Given the description of an element on the screen output the (x, y) to click on. 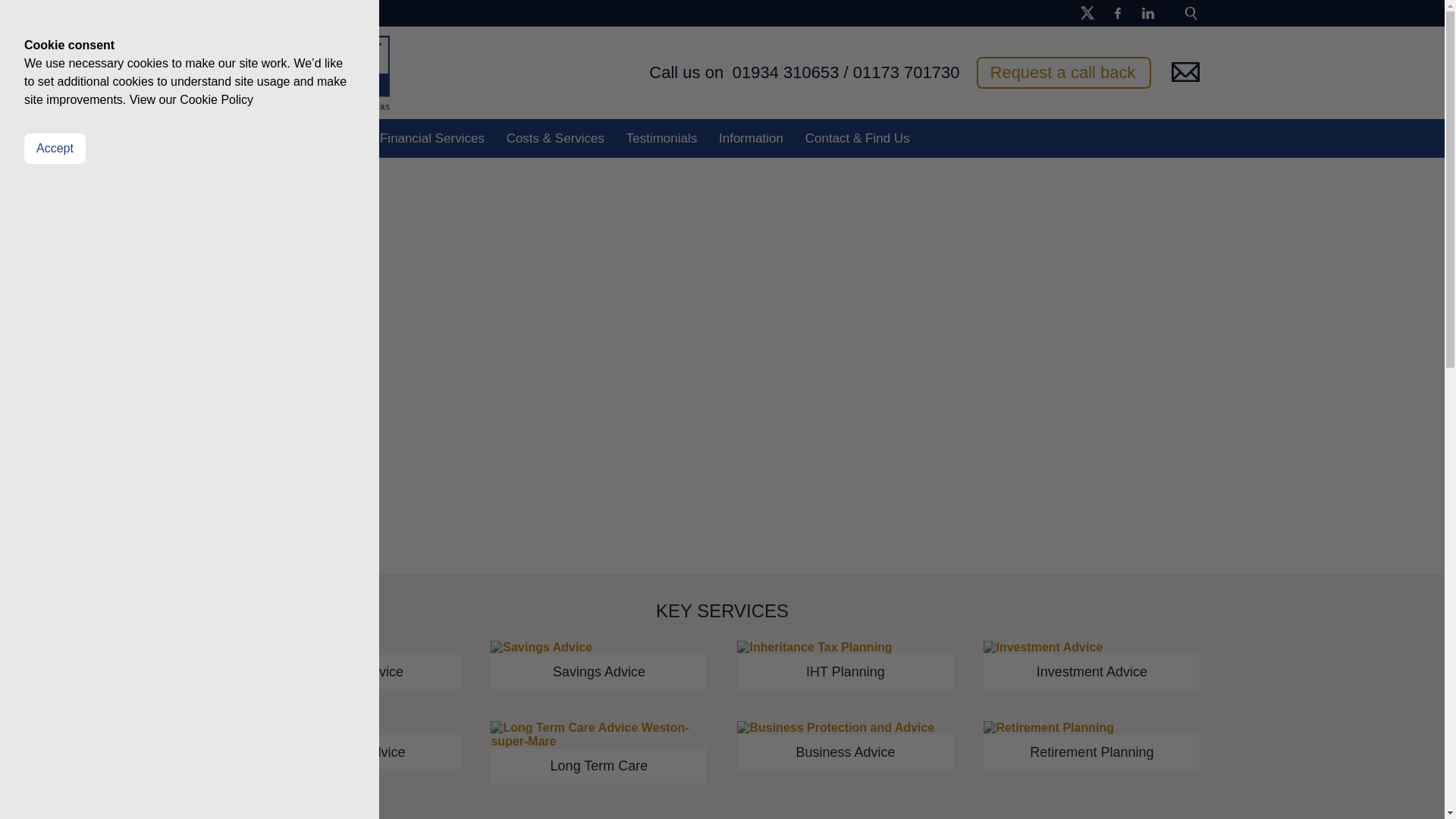
Request a call back (1063, 72)
Testimonials (661, 138)
About Us (332, 138)
Home (266, 138)
Information (750, 138)
Financial Services (432, 138)
